Given the description of an element on the screen output the (x, y) to click on. 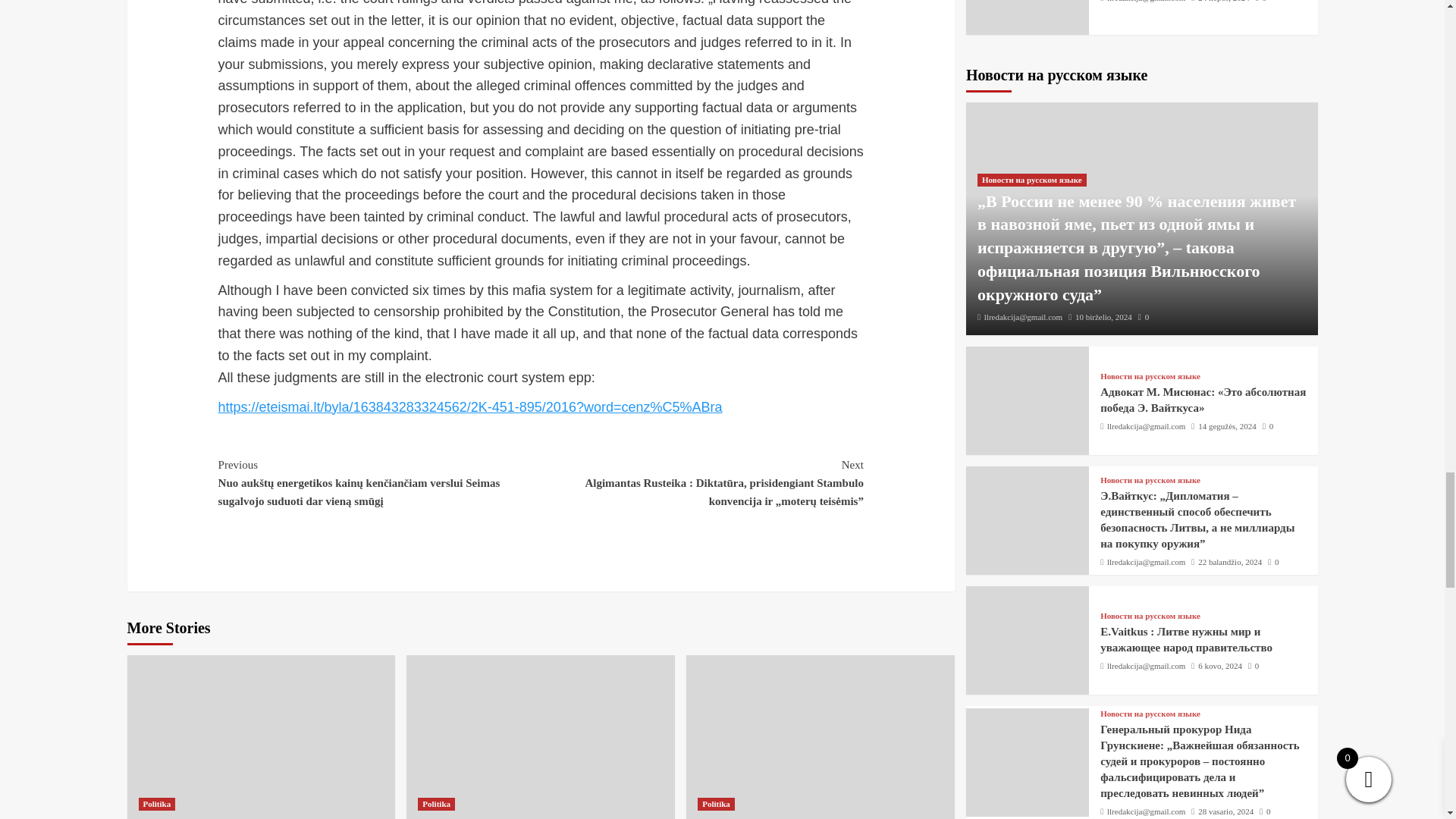
Politika (156, 803)
